Given the description of an element on the screen output the (x, y) to click on. 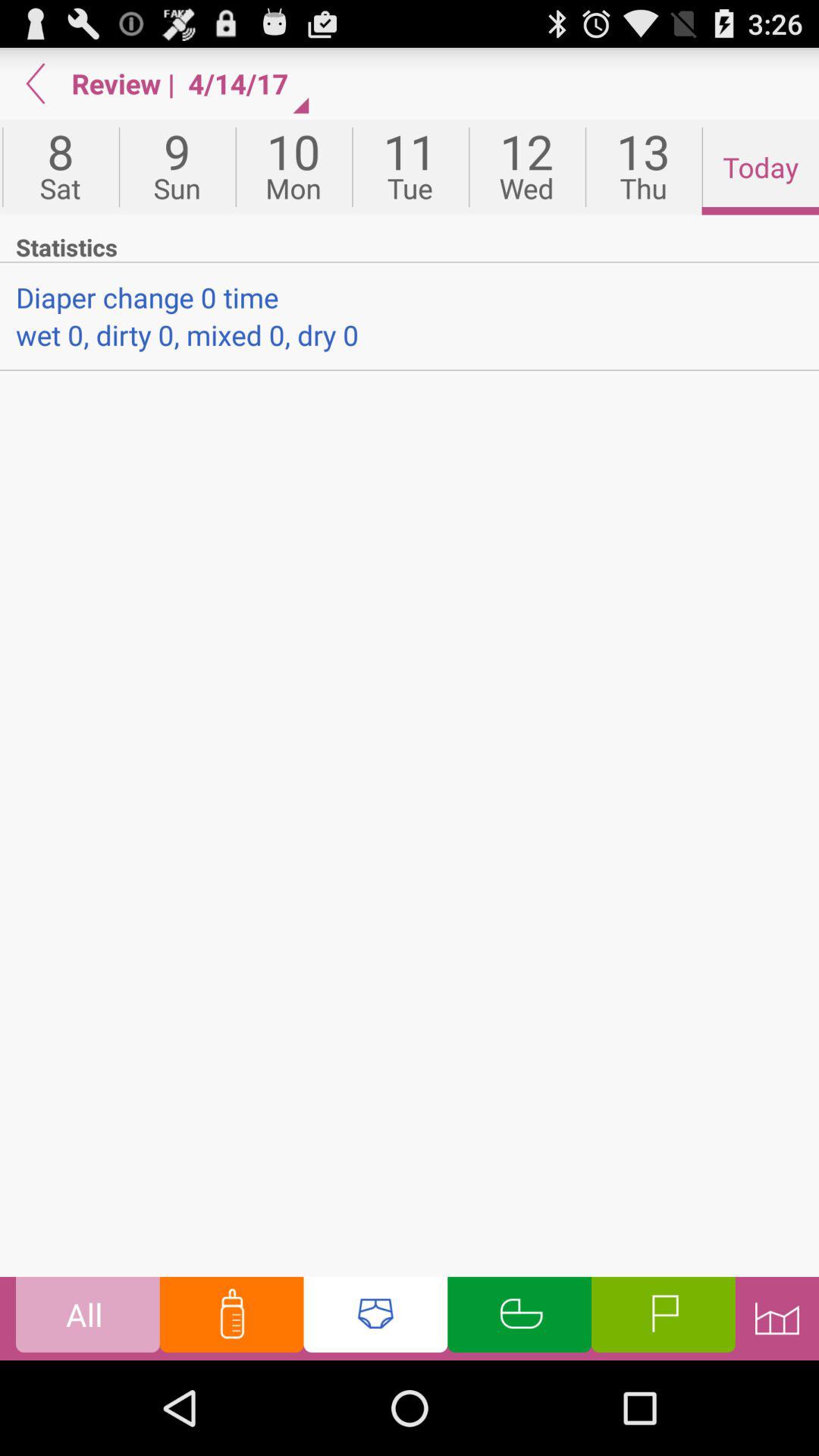
jump until thu button (643, 166)
